Given the description of an element on the screen output the (x, y) to click on. 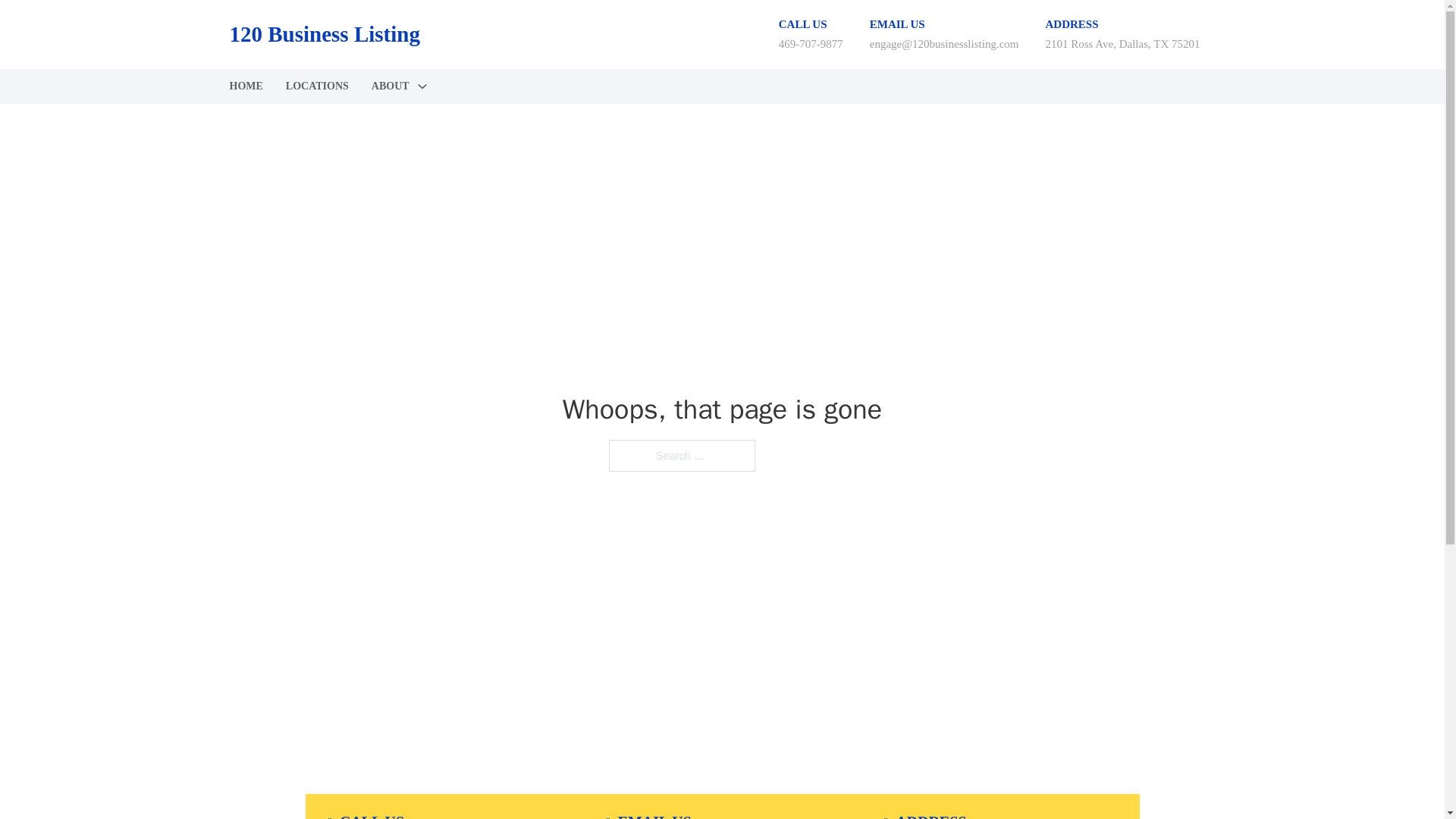
LOCATIONS (317, 85)
120 Business Listing (323, 34)
HOME (245, 85)
469-707-9877 (810, 43)
